Given the description of an element on the screen output the (x, y) to click on. 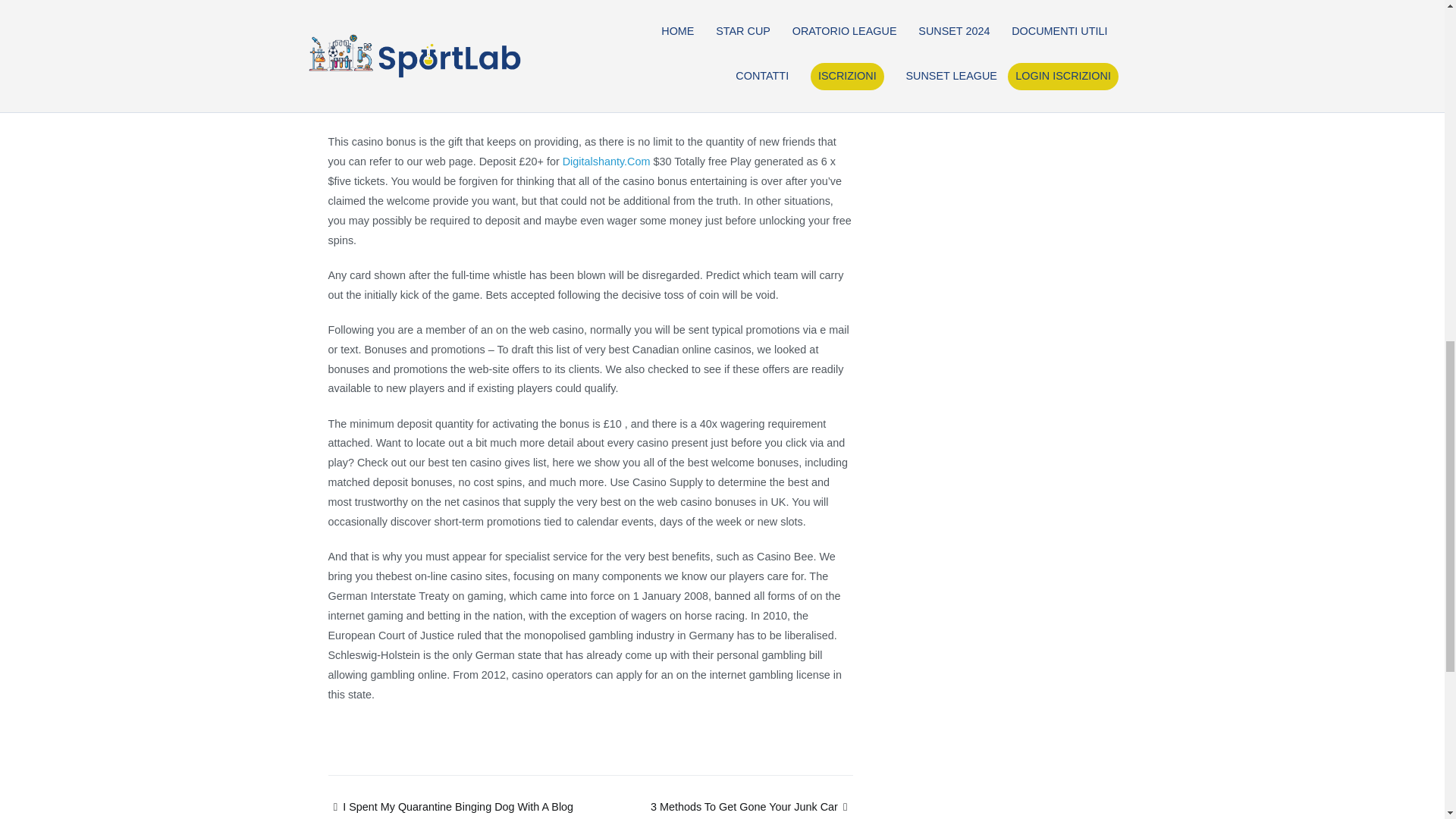
Digitalshanty.Com (606, 161)
3 Methods To Get Gone Your Junk Car (751, 806)
I Spent My Quarantine Binging Dog With A Blog (450, 806)
